Given the description of an element on the screen output the (x, y) to click on. 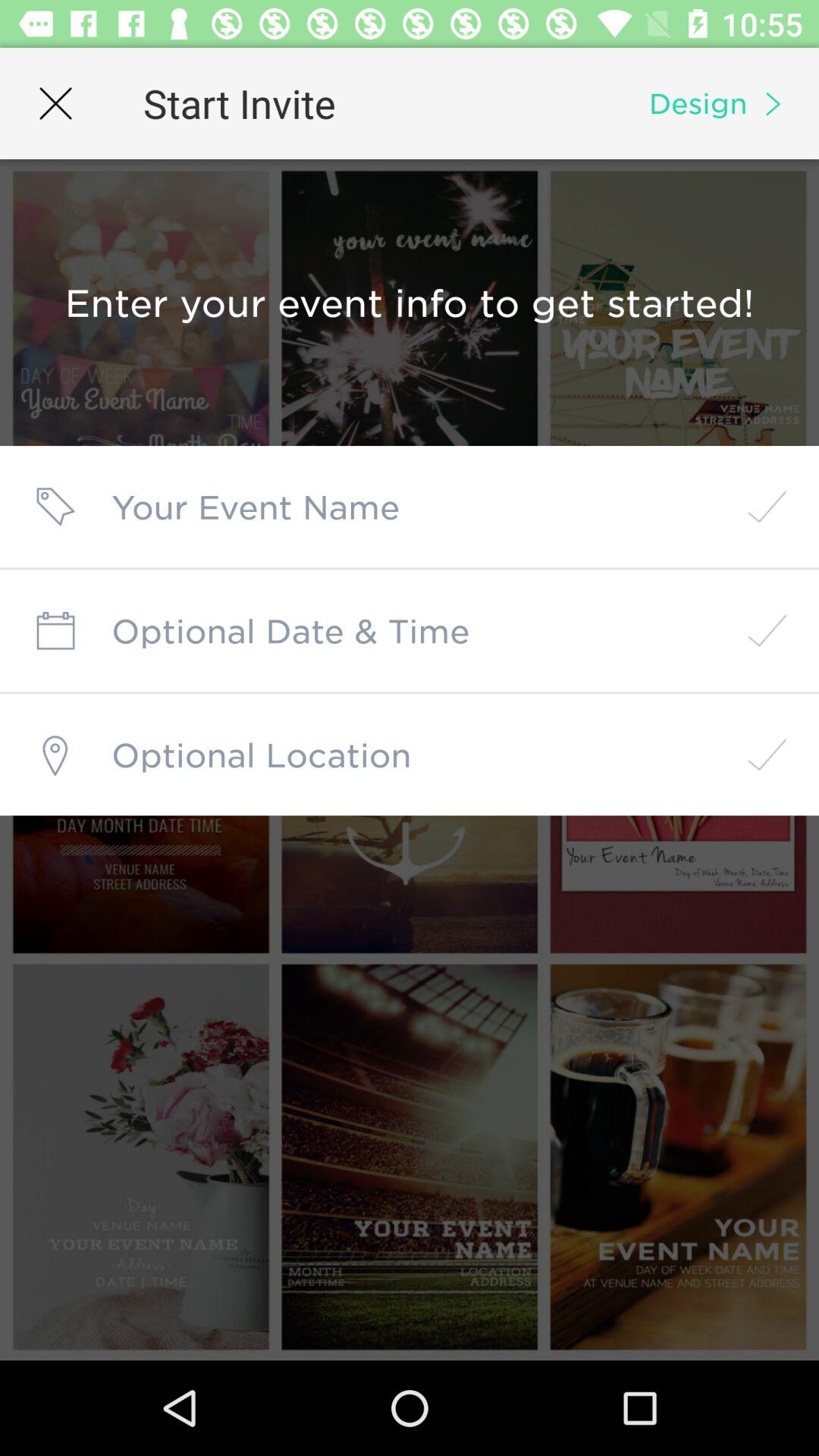
share location (409, 754)
